Given the description of an element on the screen output the (x, y) to click on. 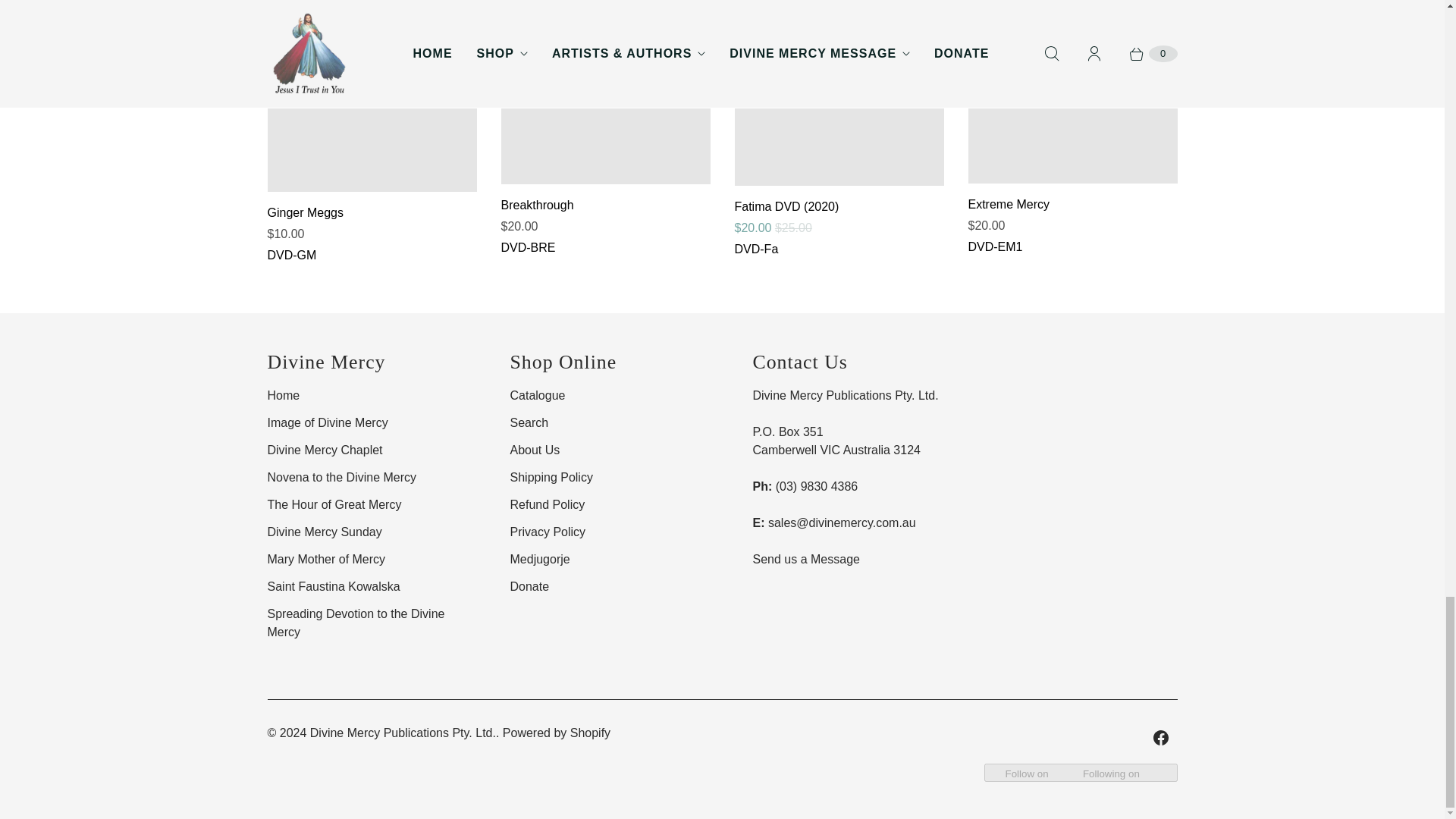
Contact (805, 558)
